Given the description of an element on the screen output the (x, y) to click on. 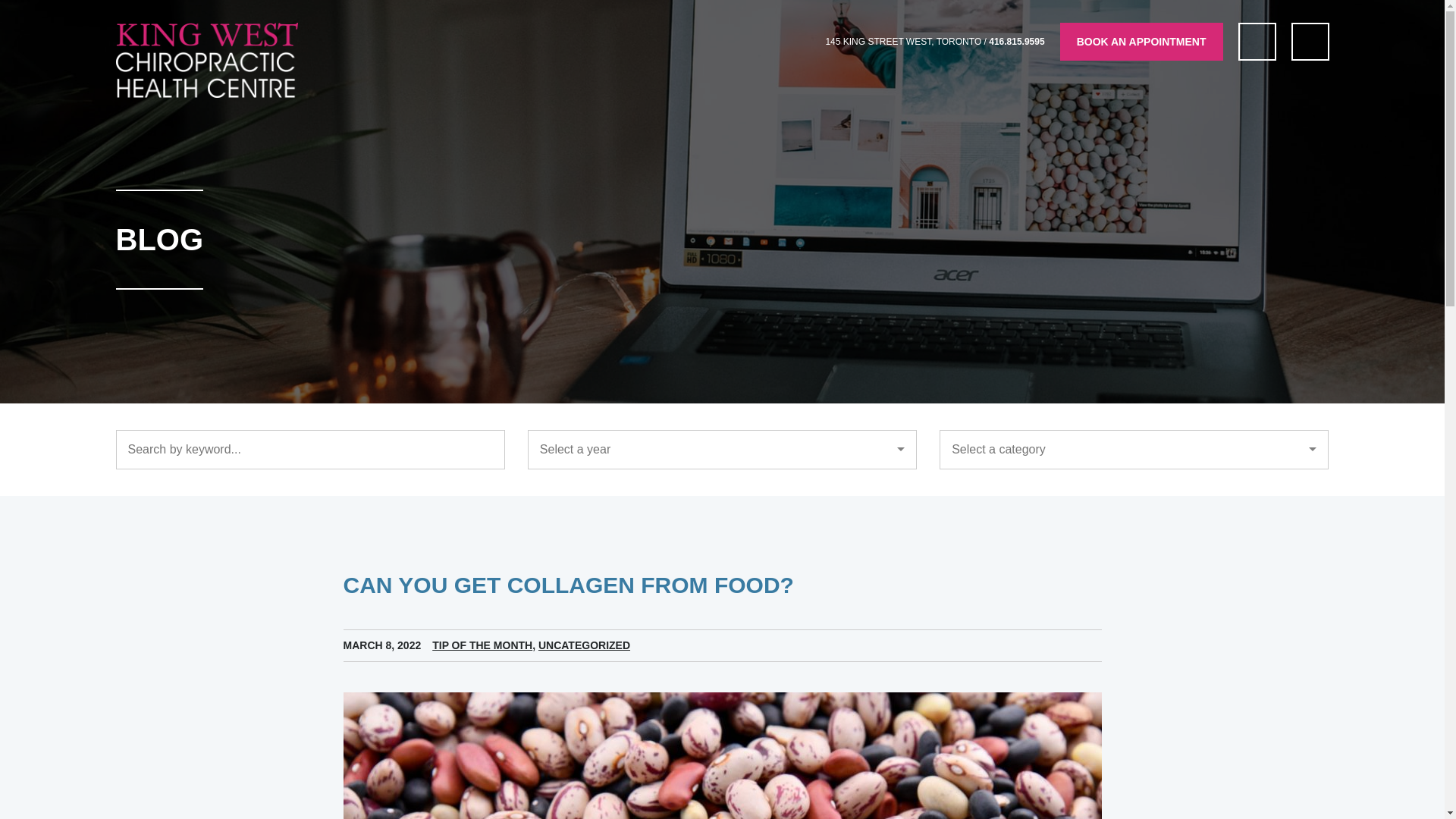
TIP OF THE MONTH (482, 645)
UNCATEGORIZED (584, 645)
BOOK AN APPOINTMENT (1141, 41)
